Given the description of an element on the screen output the (x, y) to click on. 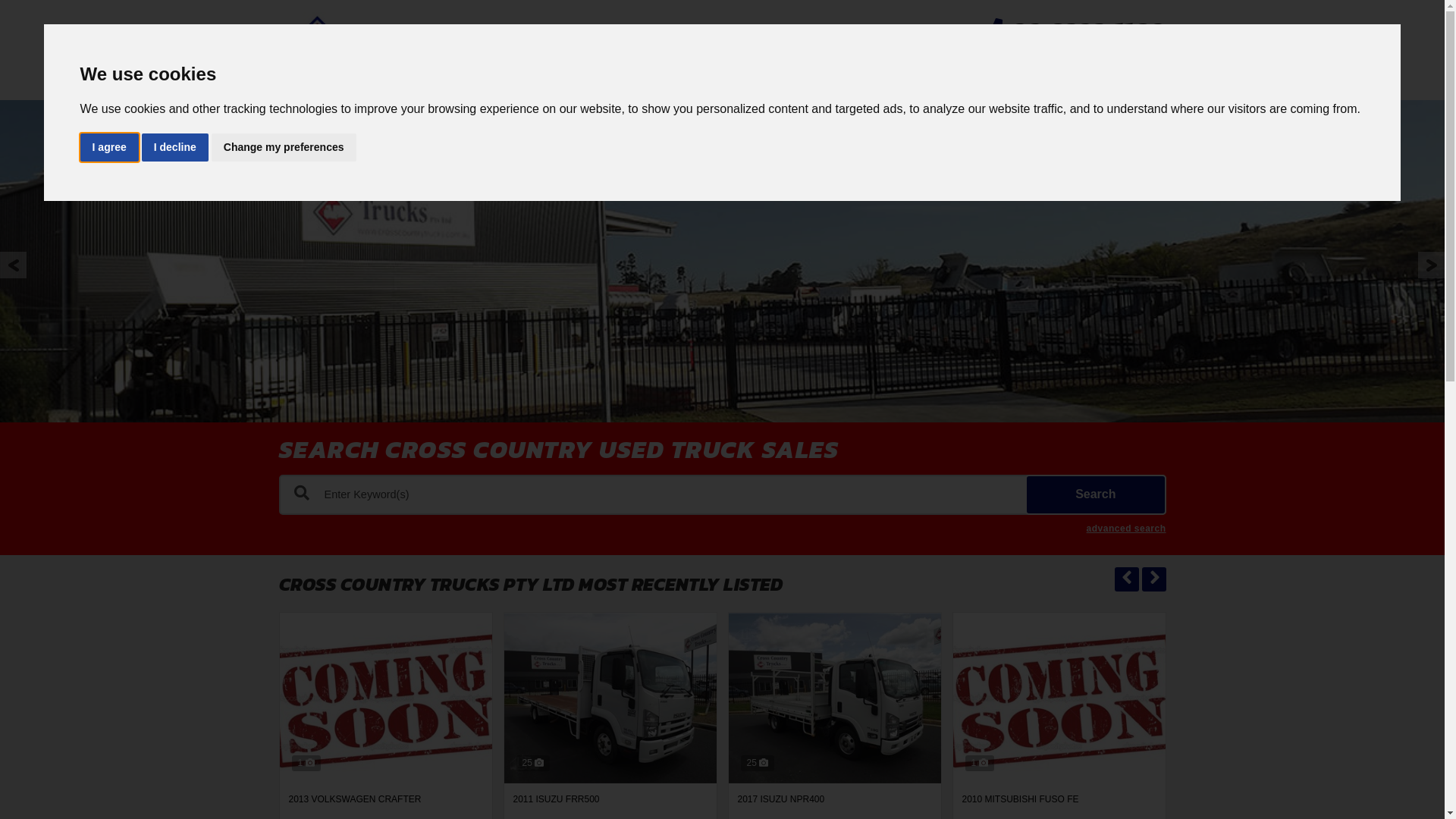
Search Element type: text (1095, 494)
I agree Element type: text (109, 147)
Change my preferences Element type: text (283, 147)
Next Element type: text (1431, 264)
advanced search Element type: text (1126, 528)
ABOUT US Element type: text (990, 67)
I decline Element type: text (174, 147)
CONTACT US Element type: text (1109, 67)
SEARCH OUR STOCK Element type: text (848, 67)
HOME Element type: text (721, 67)
Cross Country Trucks Pty Ltd Element type: hover (423, 49)
02 6323 1160 Element type: text (1088, 30)
Prev Element type: text (13, 264)
